Given the description of an element on the screen output the (x, y) to click on. 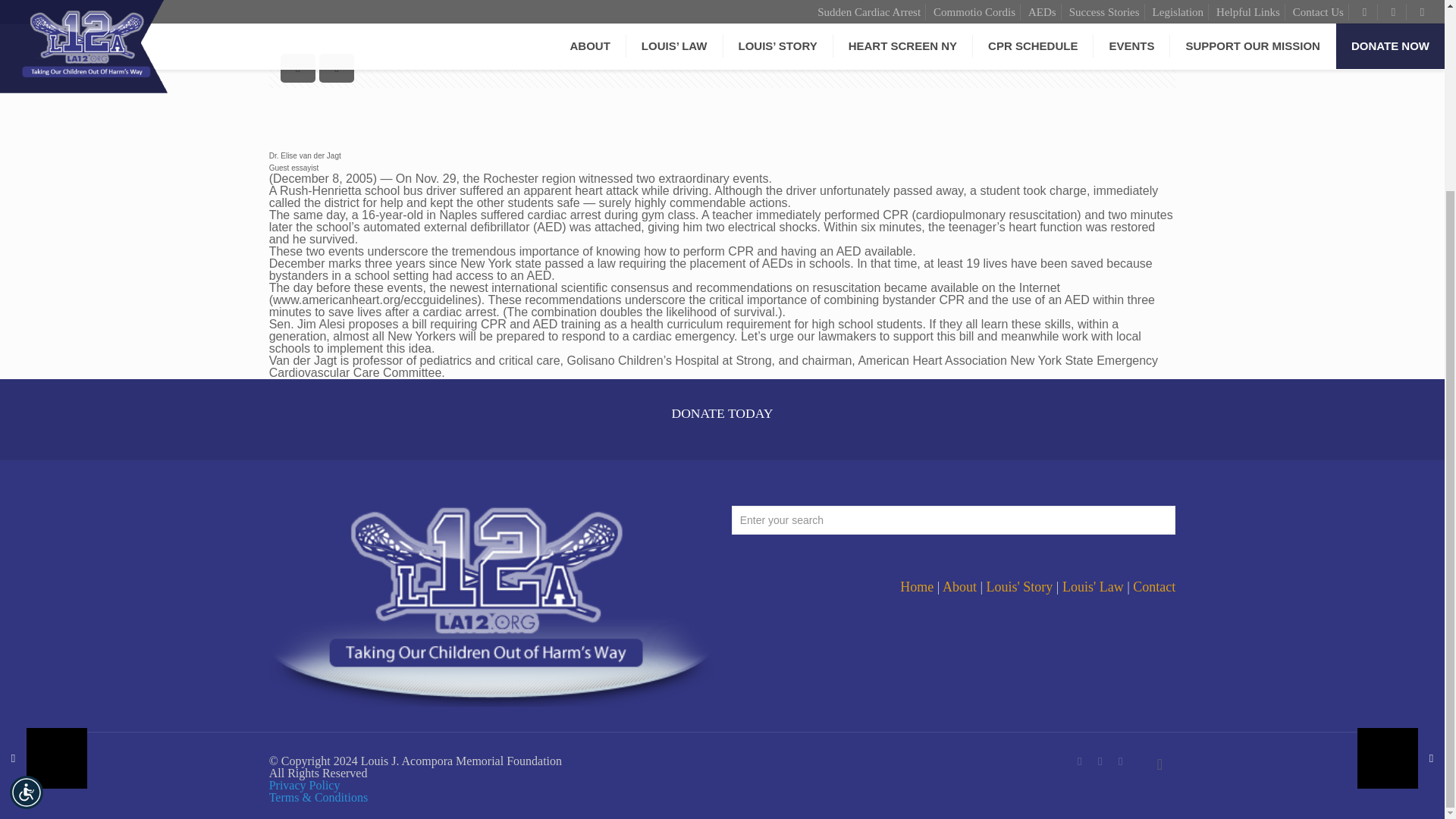
Facebook (1079, 761)
Twitter (1100, 761)
Accessibility Menu (26, 553)
YouTube (1120, 761)
